Given the description of an element on the screen output the (x, y) to click on. 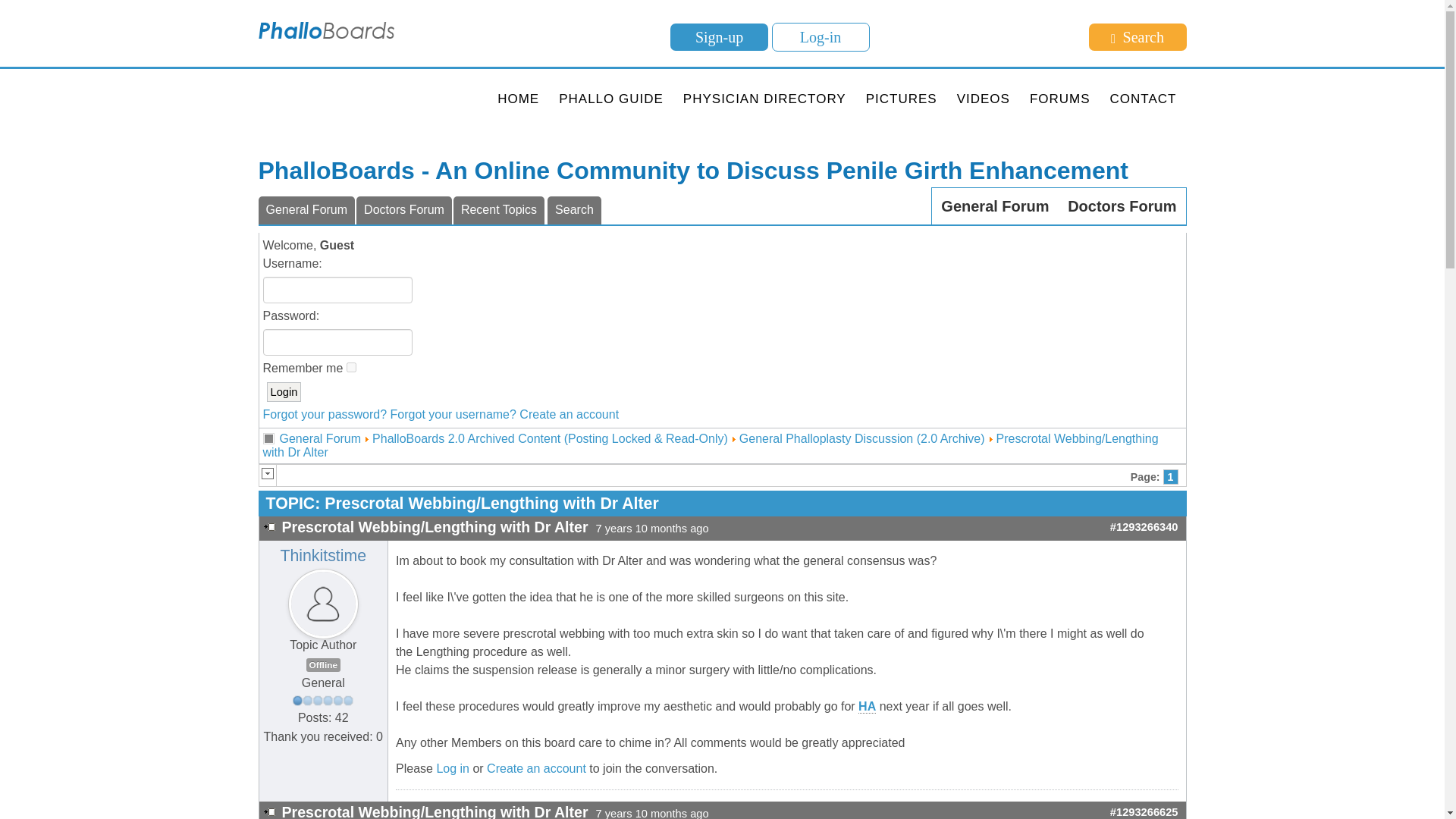
Login (283, 392)
Thinkitstime (322, 556)
31 Aug 2016 14:49 (648, 813)
  Search (1137, 36)
Log in (451, 768)
PHYSICIAN DIRECTORY (764, 98)
PHALLO GUIDE (610, 98)
Log-in (820, 36)
Create an account (536, 768)
Create an account (568, 413)
View Thinkitstime's Profile (323, 611)
1 (351, 367)
Search (574, 210)
Forgot your username? (453, 413)
